Given the description of an element on the screen output the (x, y) to click on. 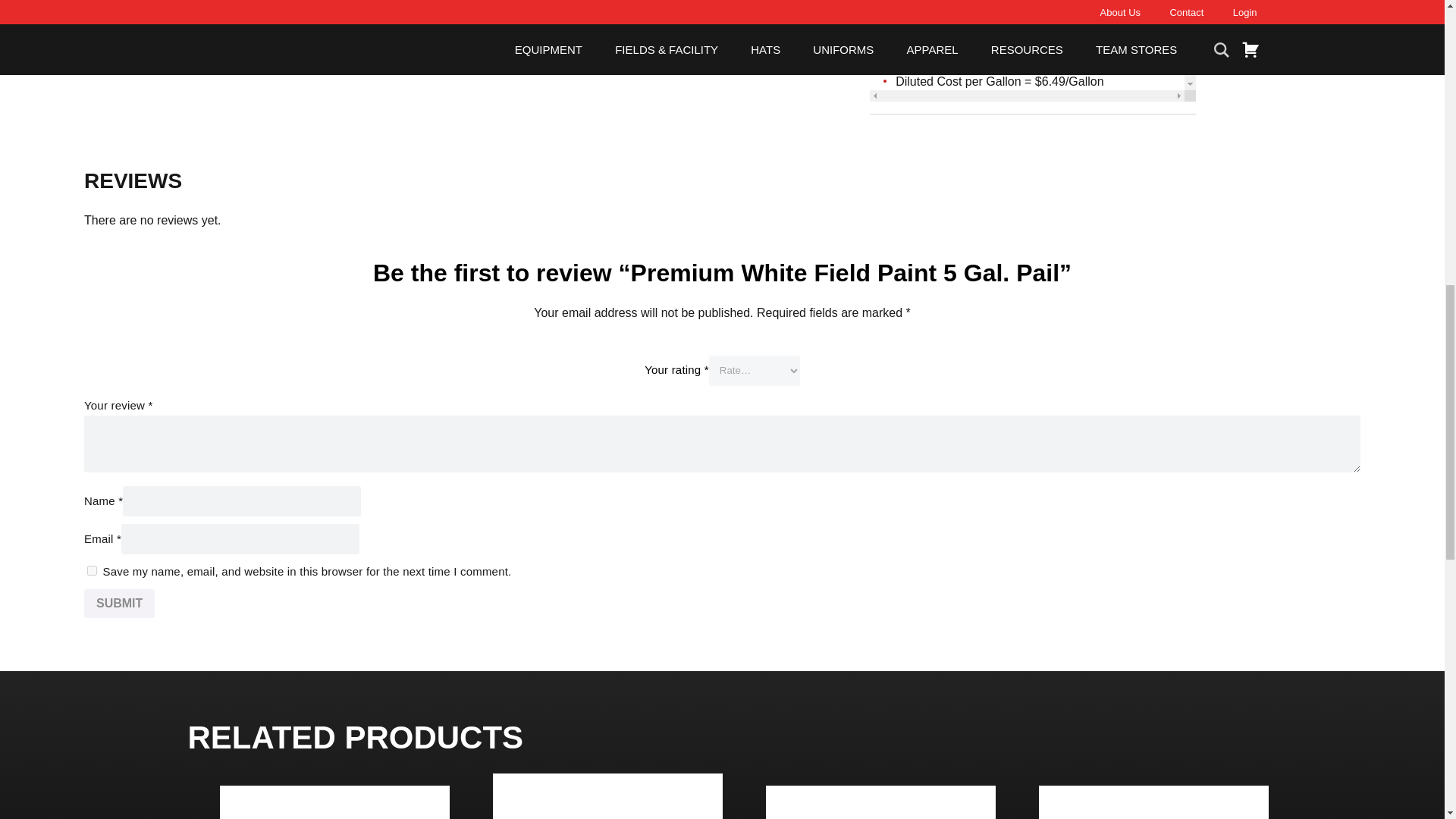
Submit (119, 603)
yes (92, 570)
